Given the description of an element on the screen output the (x, y) to click on. 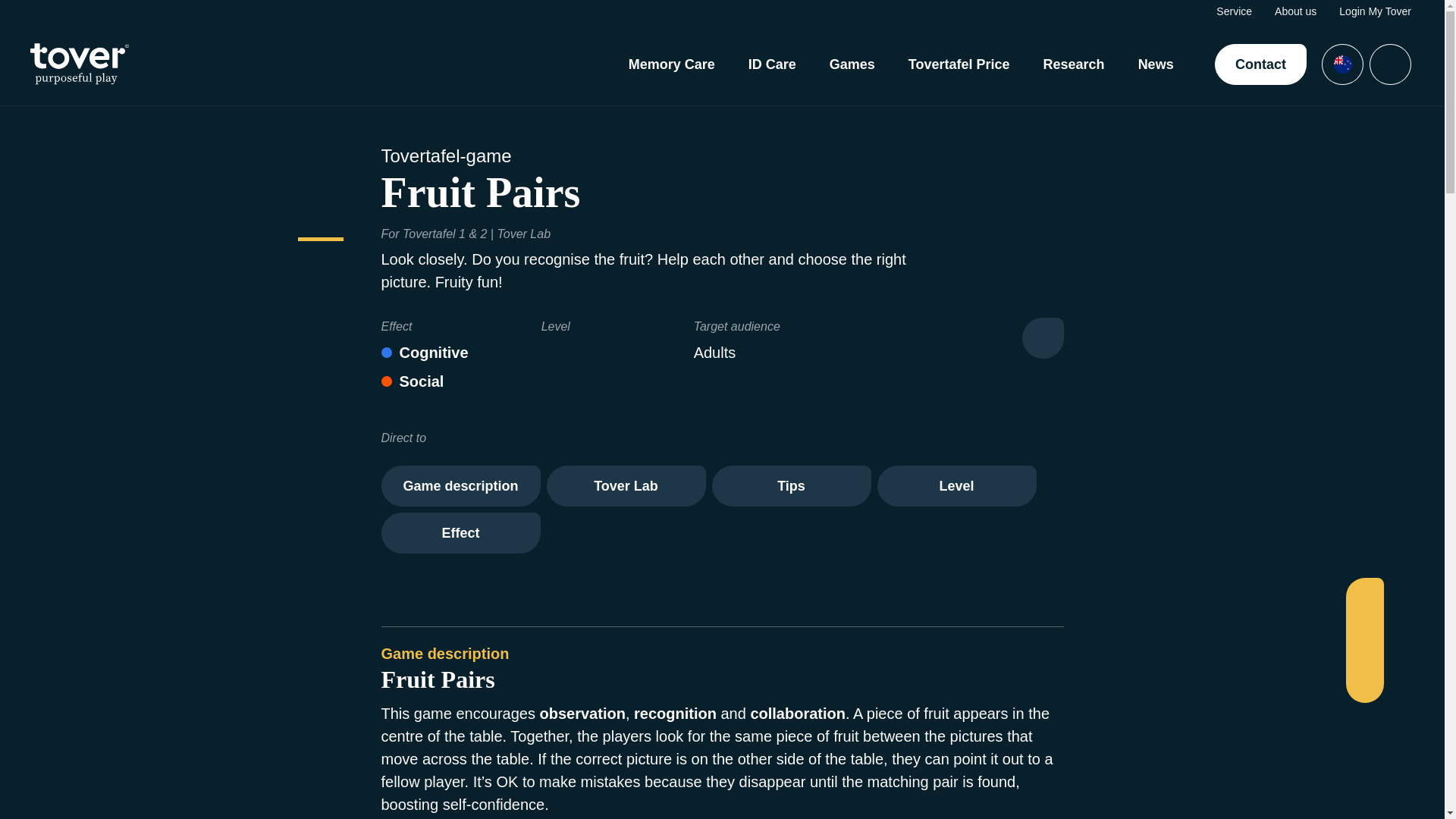
E-mail (1364, 679)
Tover Lab (625, 486)
Service (1233, 10)
Facebook (1364, 600)
Games (852, 64)
News (1155, 64)
Contact (1260, 64)
Tovertafel Price (958, 64)
Game description (460, 486)
Login My Tover (1374, 10)
Level (955, 486)
Memory Care (671, 64)
Search (1390, 64)
Print (1043, 337)
X (1364, 626)
